Given the description of an element on the screen output the (x, y) to click on. 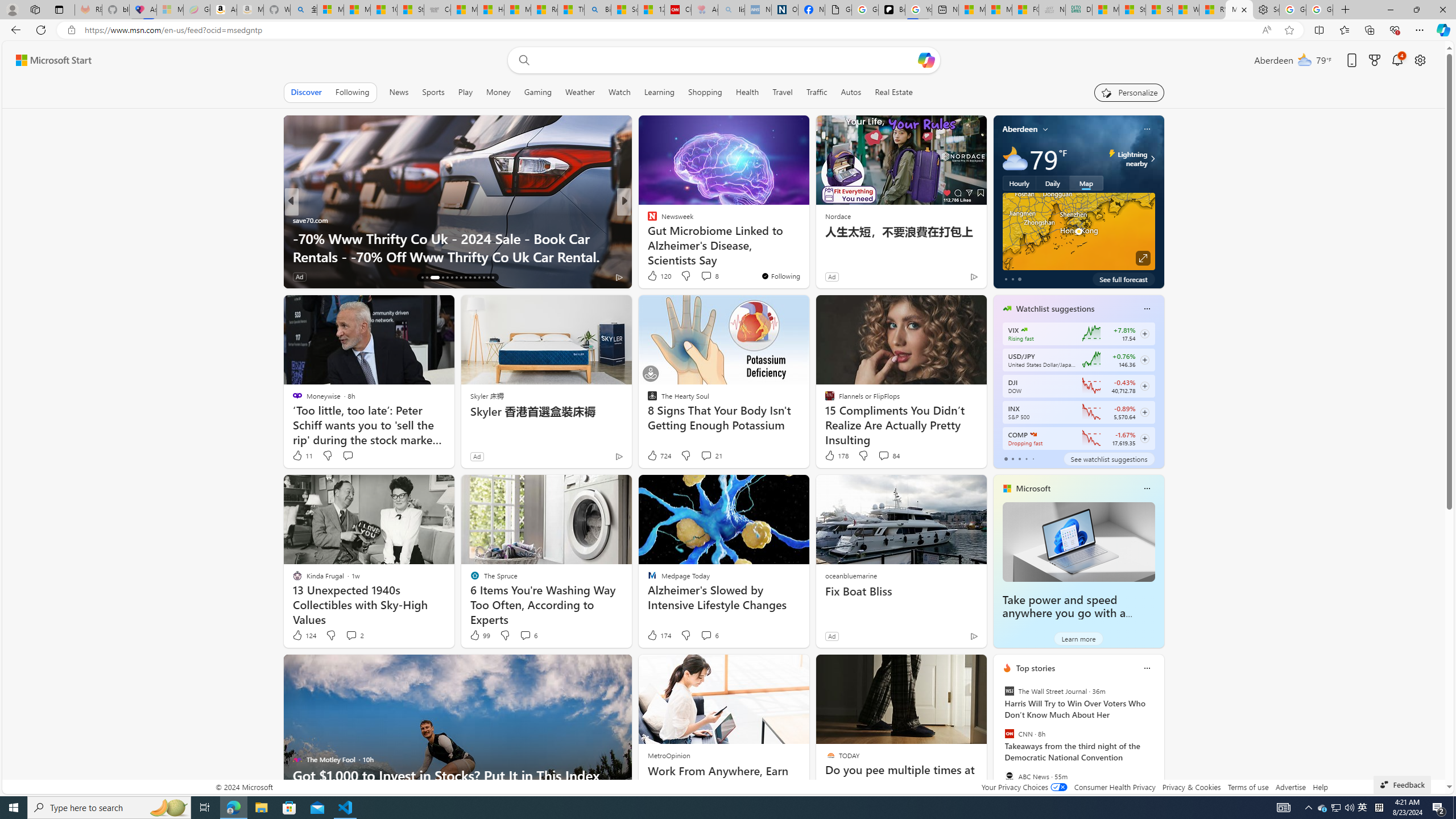
Recipes - MSN (543, 9)
View comments 15 Comment (707, 276)
Shopping (705, 92)
How I Got Rid of Microsoft Edge's Unnecessary Features (491, 9)
Why you should put $15,000 into a CD right away (807, 256)
Terms of use (1247, 786)
Google Analytics Opt-out Browser Add-on Download Page (837, 9)
Real Estate (893, 92)
CBS News (647, 238)
CNN (1008, 733)
178 Like (835, 455)
